Given the description of an element on the screen output the (x, y) to click on. 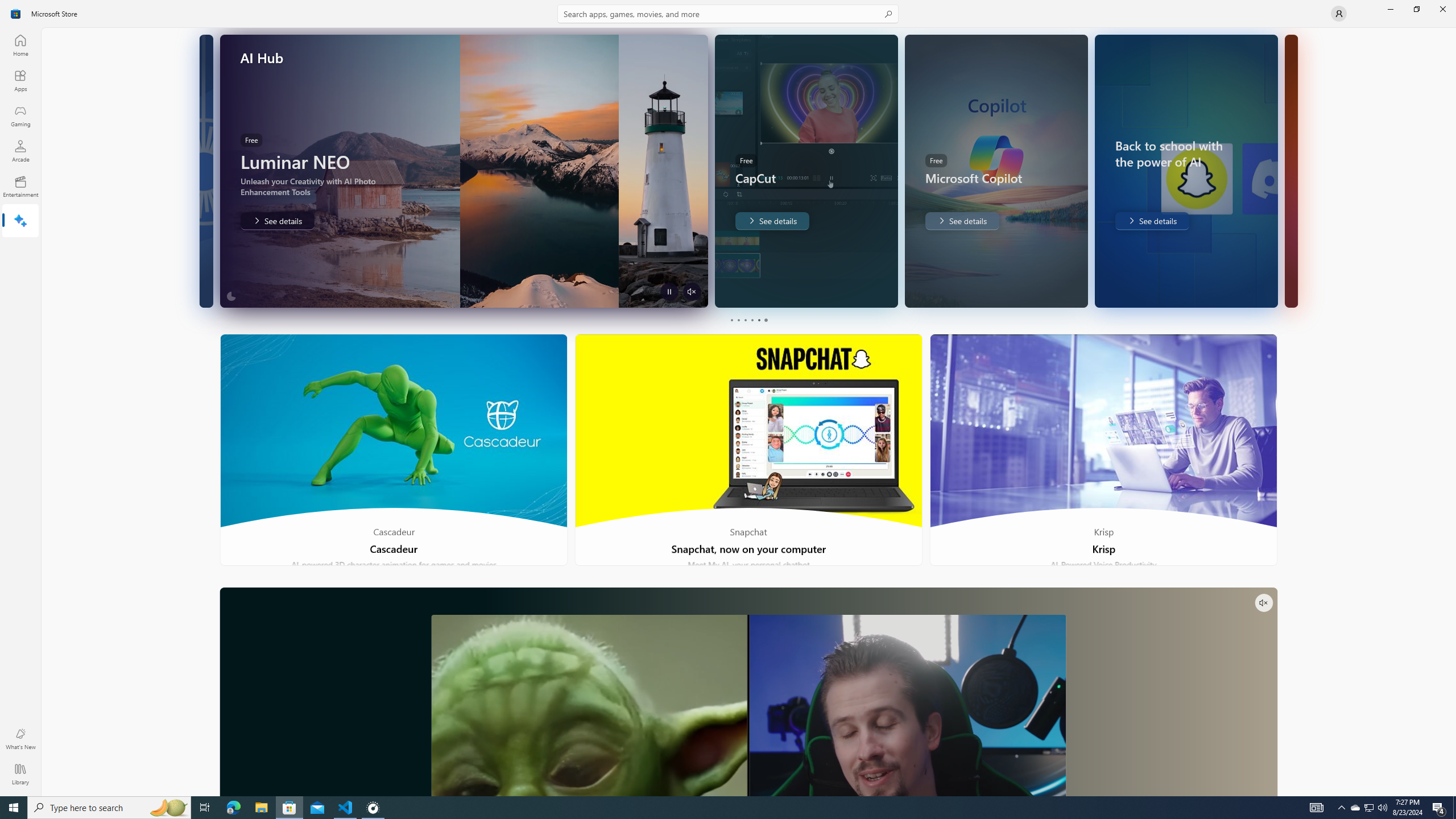
Class: Image (15, 13)
Page 4 (751, 319)
Unmute (1263, 602)
Restore Microsoft Store (1416, 9)
Become anyone on Zoom, Twitch, or any streaming video (747, 691)
Krisp (1102, 449)
Page 2 (738, 319)
Minimize Microsoft Store (1390, 9)
Close Microsoft Store (1442, 9)
Page 3 (744, 319)
Gaming (20, 115)
AutomationID: PosterImage (747, 705)
Arcade (20, 150)
